Given the description of an element on the screen output the (x, y) to click on. 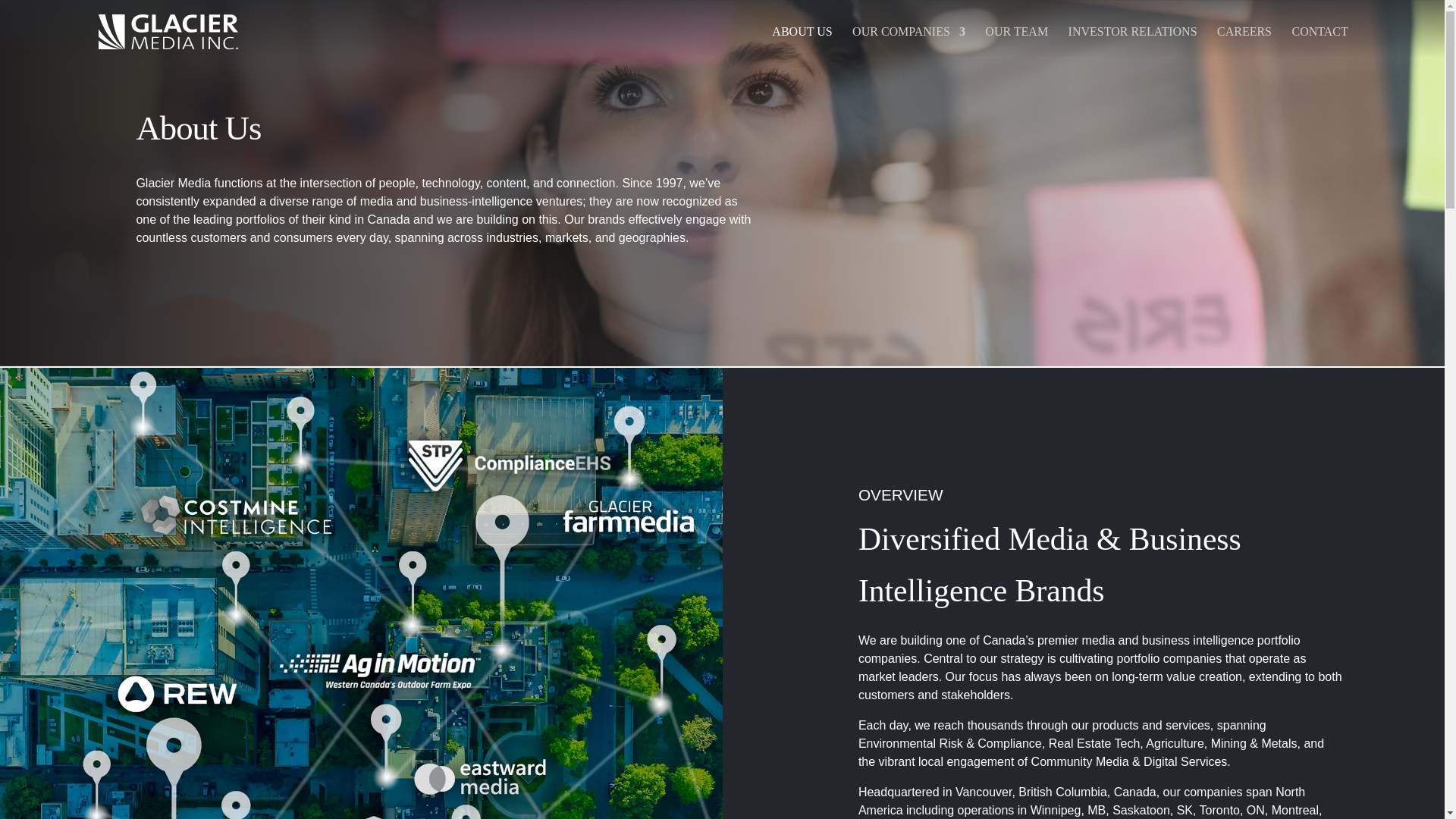
OUR COMPANIES (908, 44)
INVESTOR RELATIONS (1132, 44)
ABOUT US (801, 44)
OUR TEAM (1016, 44)
CAREERS (1244, 44)
CONTACT (1319, 44)
